Given the description of an element on the screen output the (x, y) to click on. 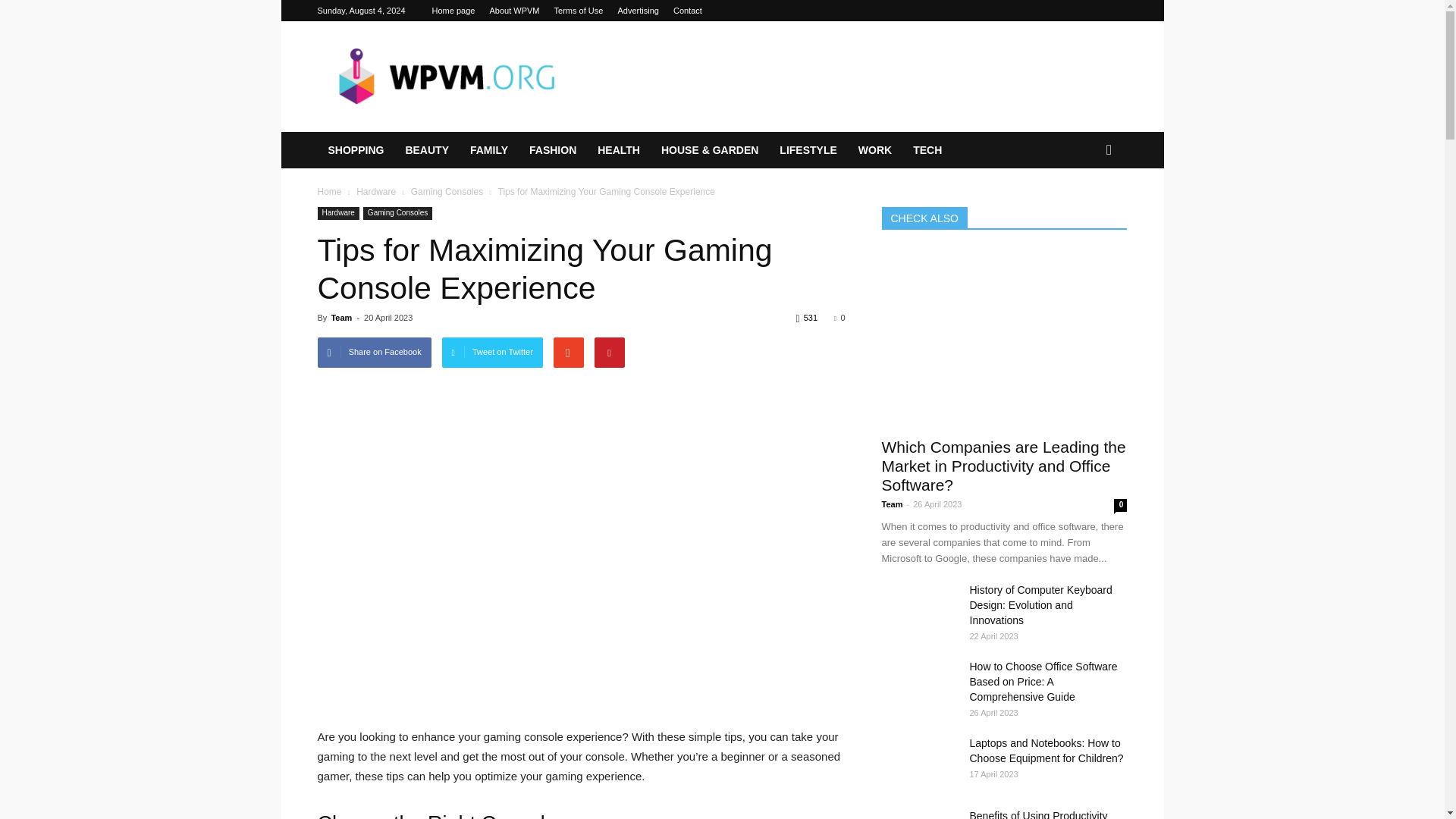
Terms of Use (579, 10)
View all posts in Gaming Consoles (448, 191)
View all posts in Hardware (376, 191)
Home page (454, 10)
TECH (927, 149)
Advertising (637, 10)
About WPVM (514, 10)
WORK (874, 149)
LIFESTYLE (807, 149)
Contact (686, 10)
wpvm (445, 76)
HEALTH (618, 149)
BEAUTY (427, 149)
FAMILY (489, 149)
SHOPPING (355, 149)
